Given the description of an element on the screen output the (x, y) to click on. 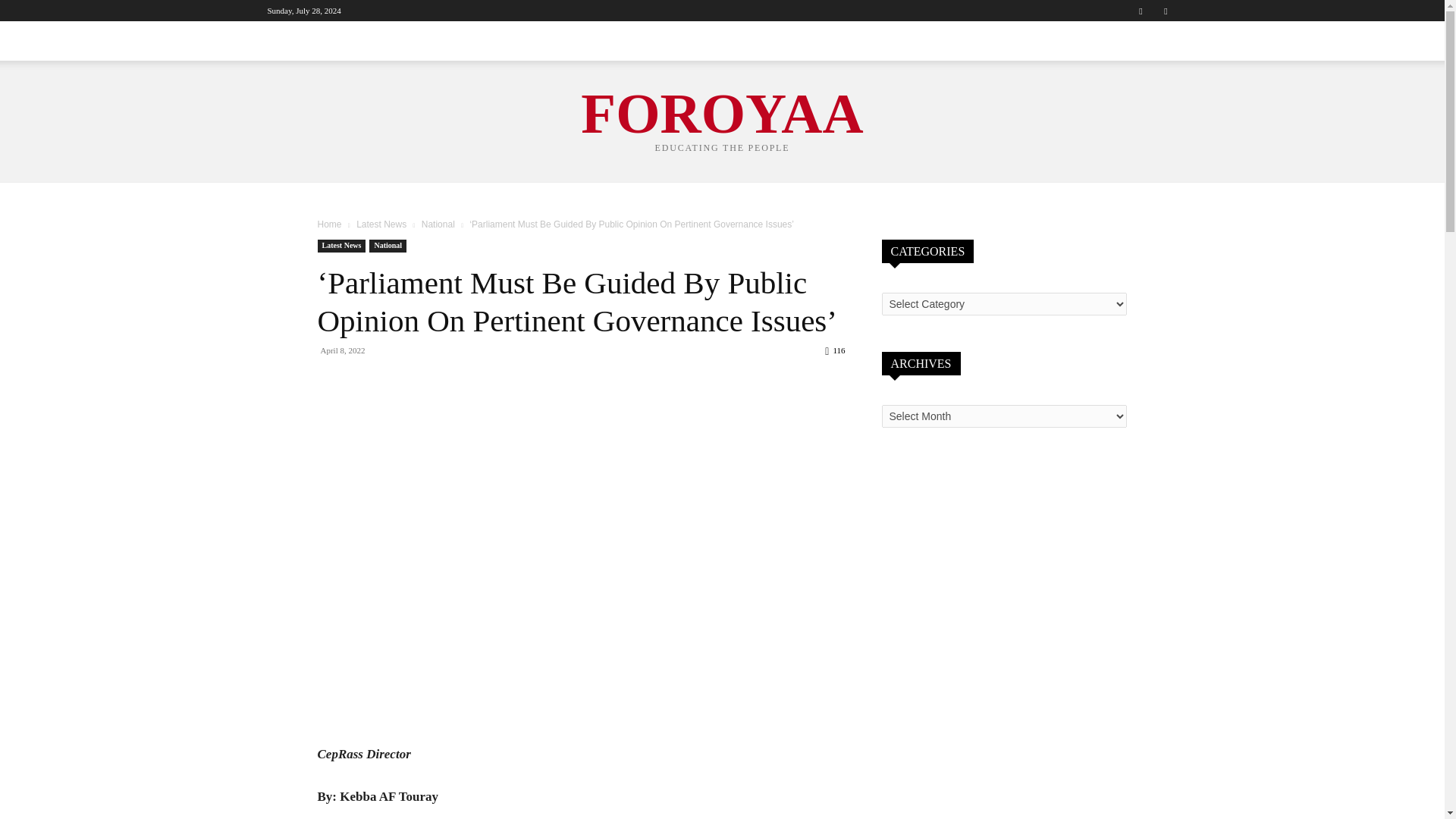
Twitter (1165, 10)
Facebook (1140, 10)
ALL NEWS (296, 40)
